Given the description of an element on the screen output the (x, y) to click on. 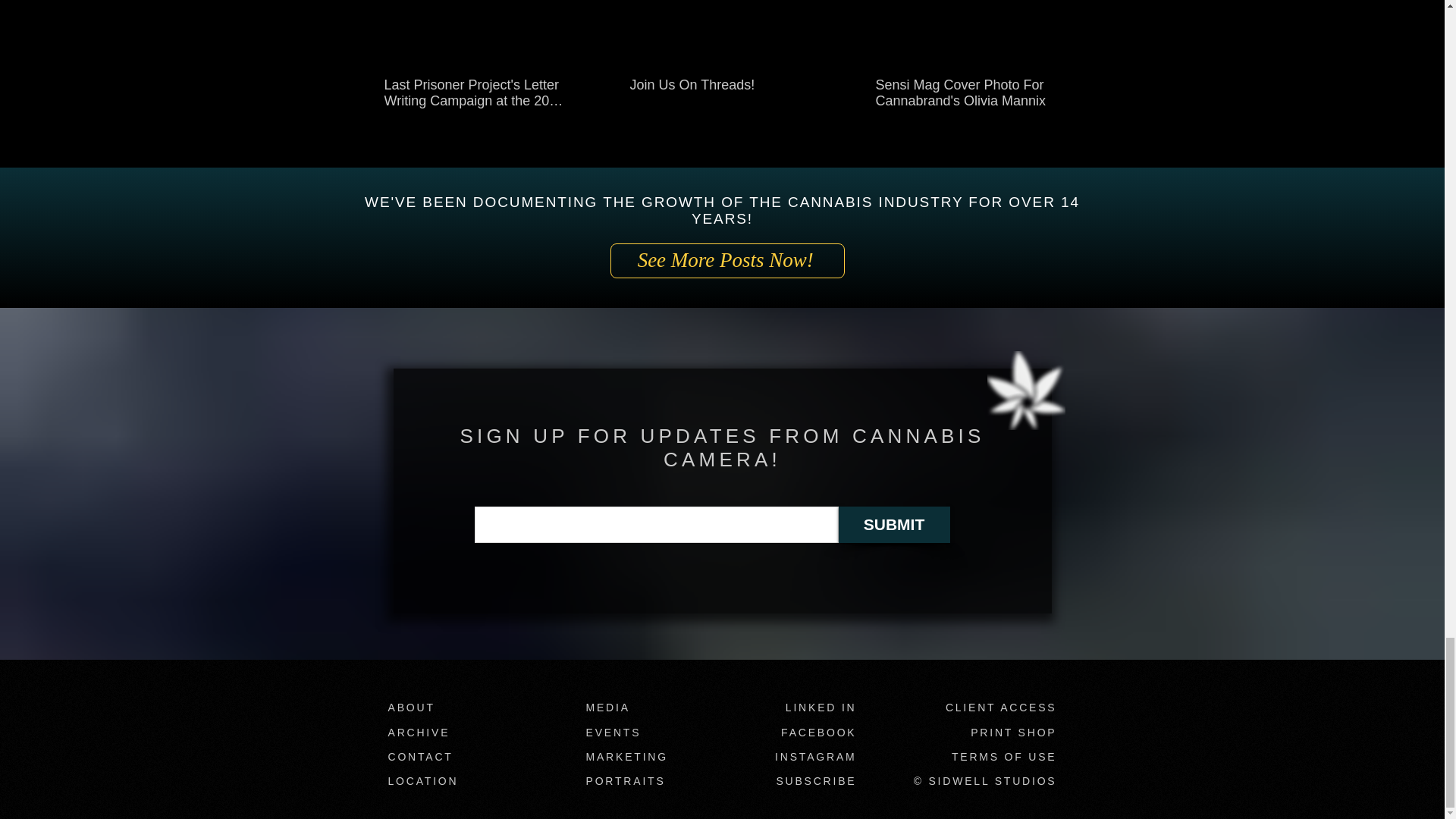
Sensi Mag Cover Photo For Cannabrand's Olivia Mannix (966, 92)
ARCHIVE (418, 732)
ABOUT (411, 707)
SUBMIT (894, 524)
See More Posts Now! (727, 260)
CONTACT (420, 756)
Join Us On Threads! (720, 84)
